Given the description of an element on the screen output the (x, y) to click on. 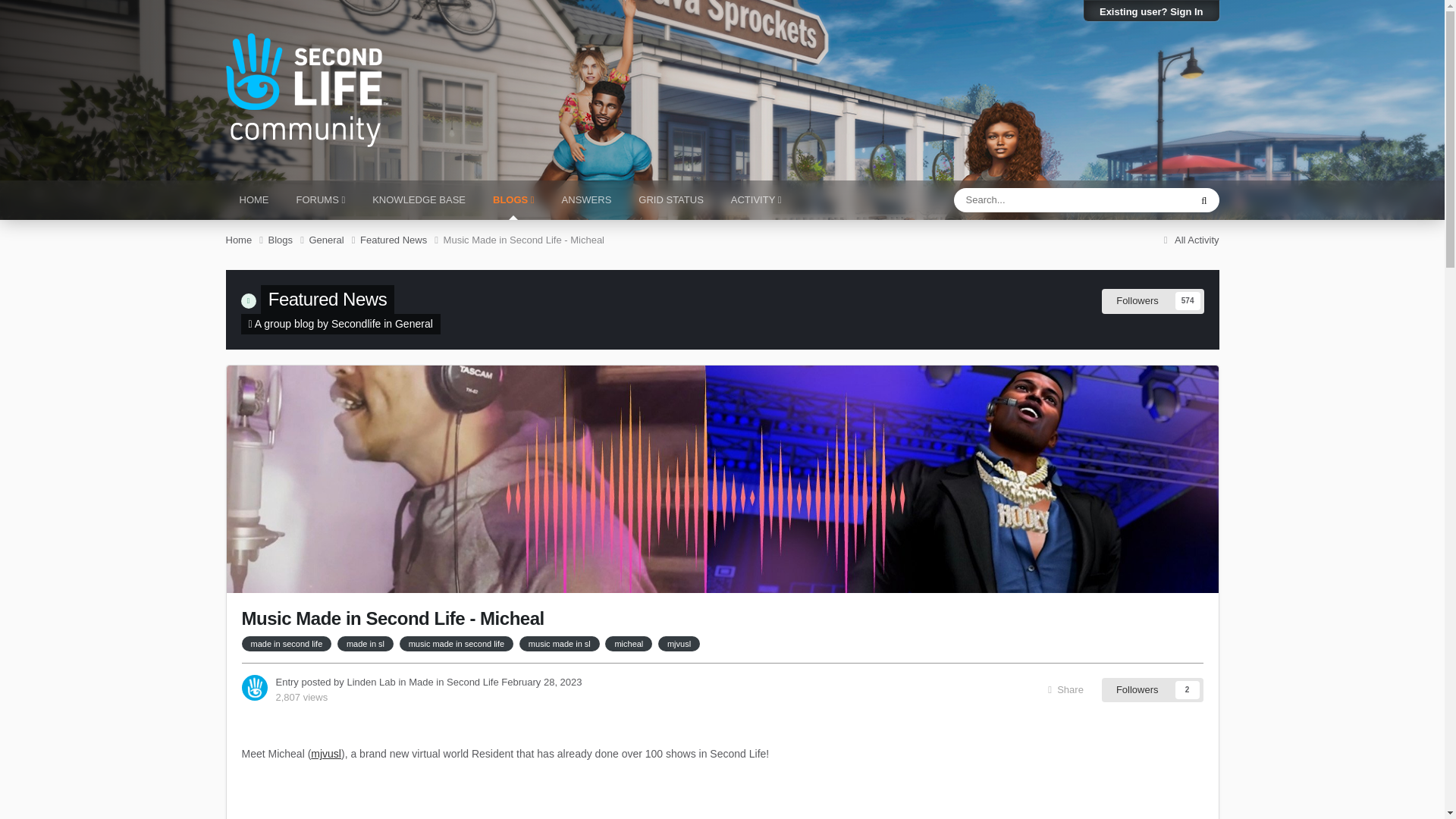
Go to Linden Lab's profile (253, 687)
HOME (253, 200)
Find other content tagged with 'micheal' (628, 643)
Find other content tagged with 'made in sl' (365, 643)
GRID STATUS (670, 200)
Pinned (248, 300)
ANSWERS (587, 200)
Find other content tagged with 'made in second life' (286, 643)
All Activity (1188, 239)
Home (246, 240)
